Given the description of an element on the screen output the (x, y) to click on. 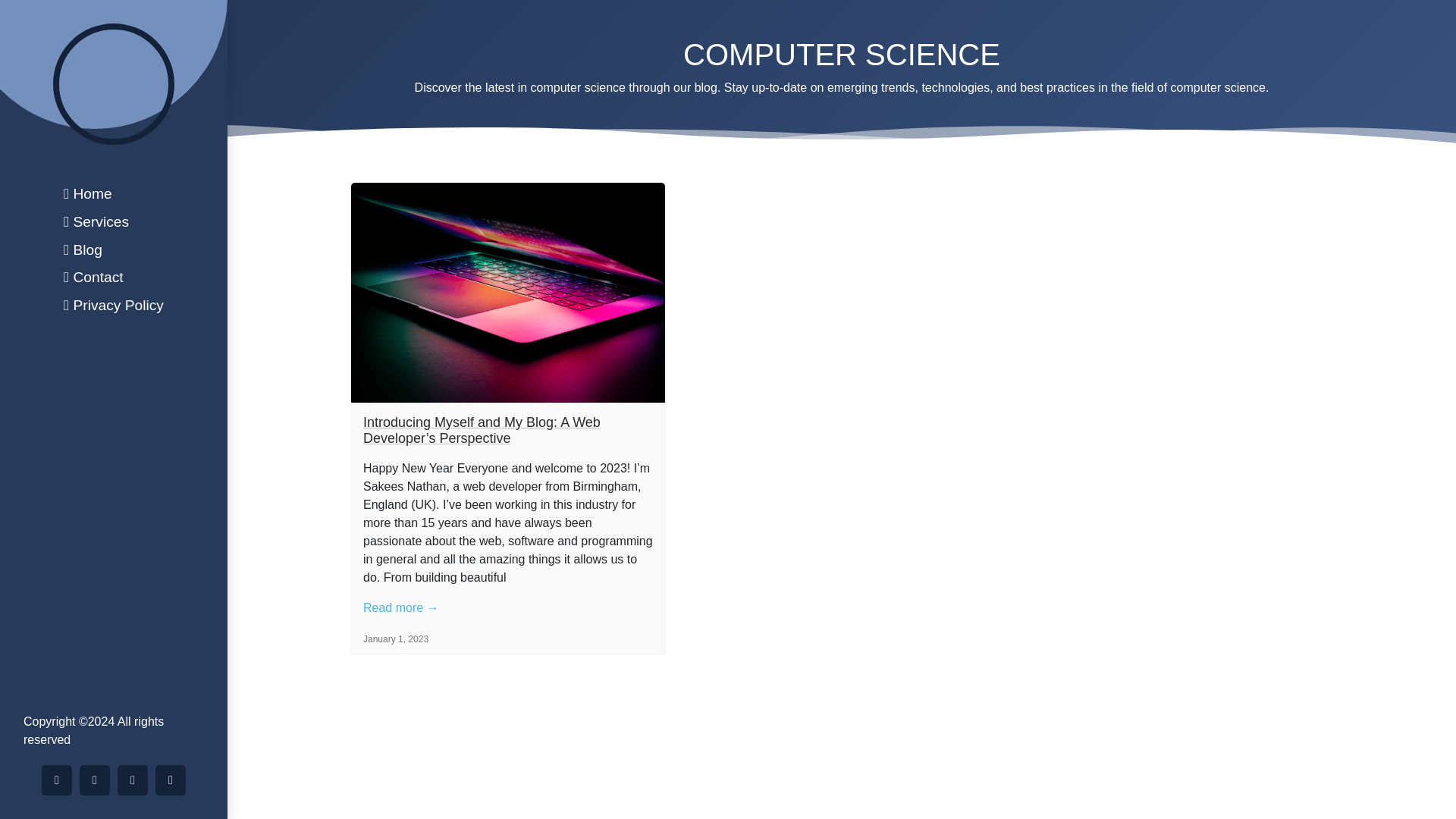
Contact (113, 277)
Services (113, 222)
Blog (113, 250)
Privacy Policy (113, 305)
Home (113, 194)
